Given the description of an element on the screen output the (x, y) to click on. 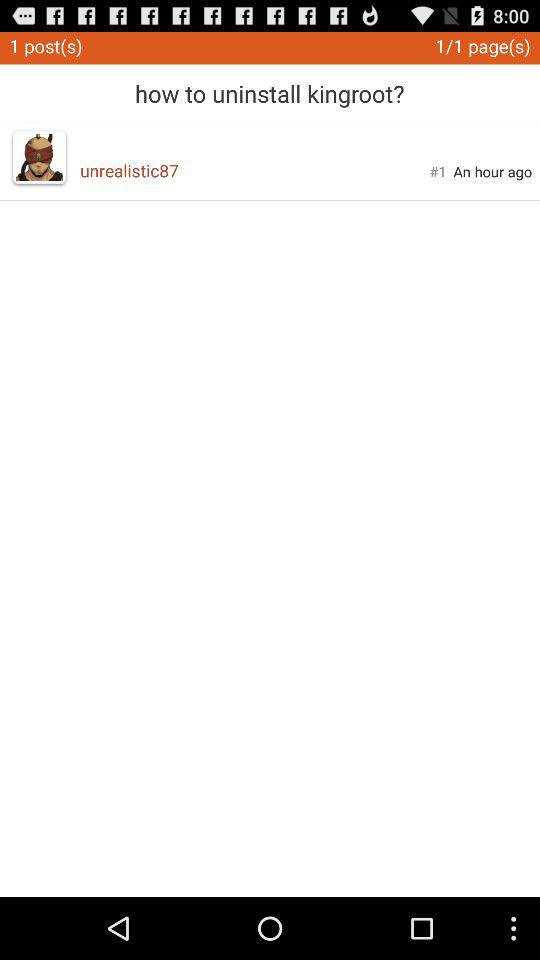
turn on the icon next to #1 (254, 170)
